Given the description of an element on the screen output the (x, y) to click on. 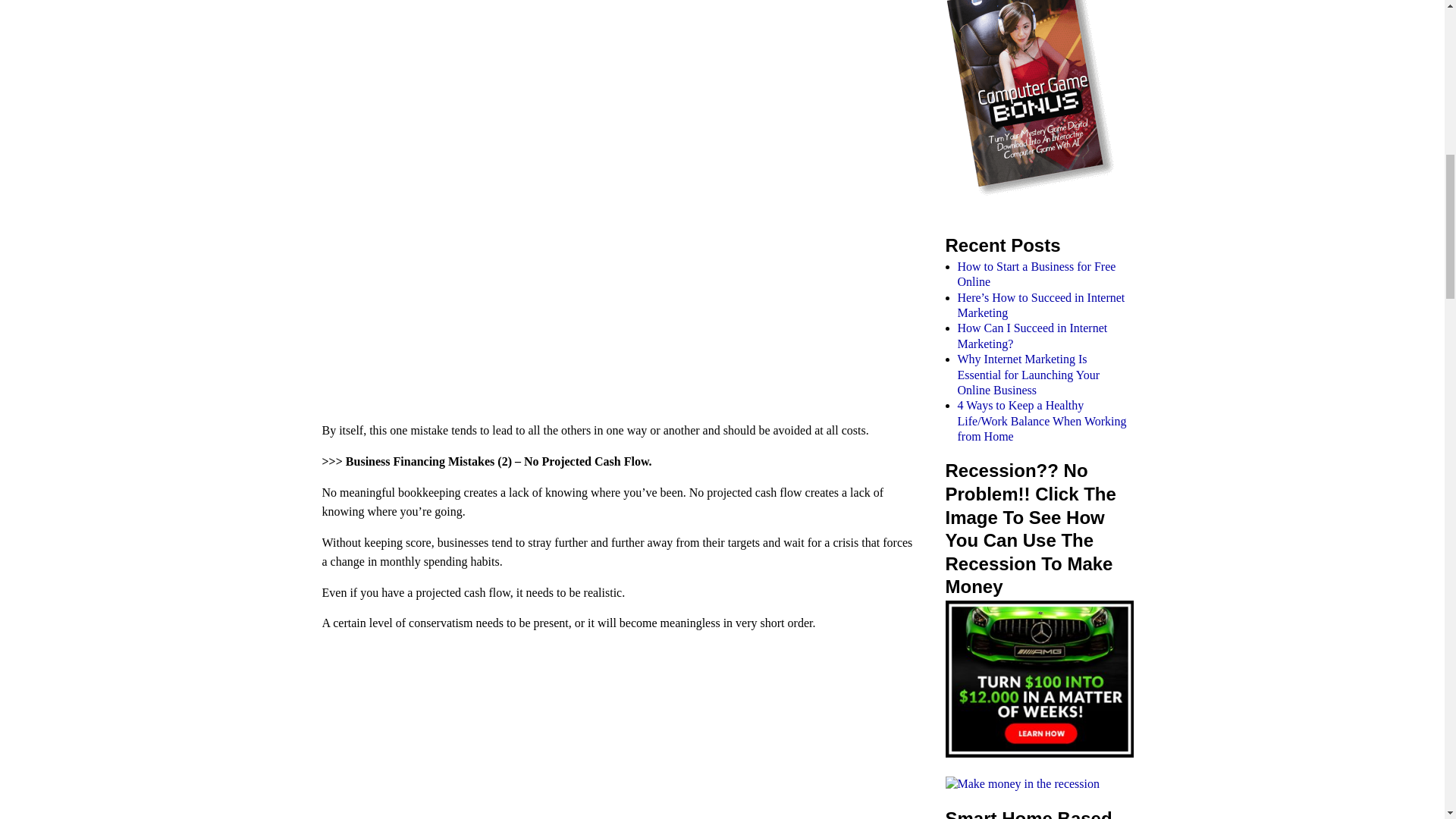
Advertisement (625, 315)
Advertisement (625, 732)
Advertisement (625, 104)
